Given the description of an element on the screen output the (x, y) to click on. 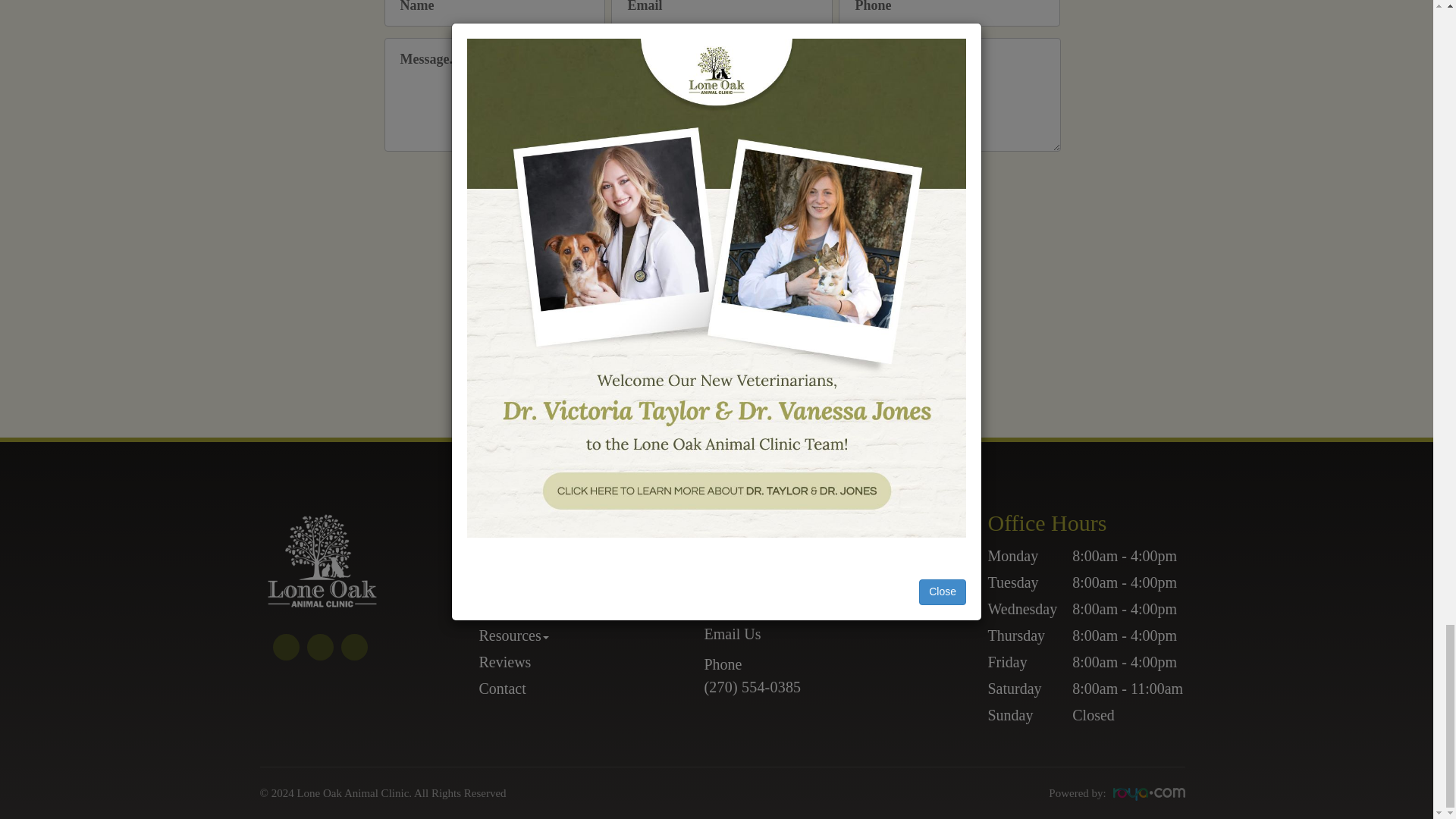
Resources (513, 635)
About Us (508, 582)
Submit (721, 190)
Services (505, 608)
Submit (721, 190)
Home (497, 555)
Roya (1149, 793)
